Given the description of an element on the screen output the (x, y) to click on. 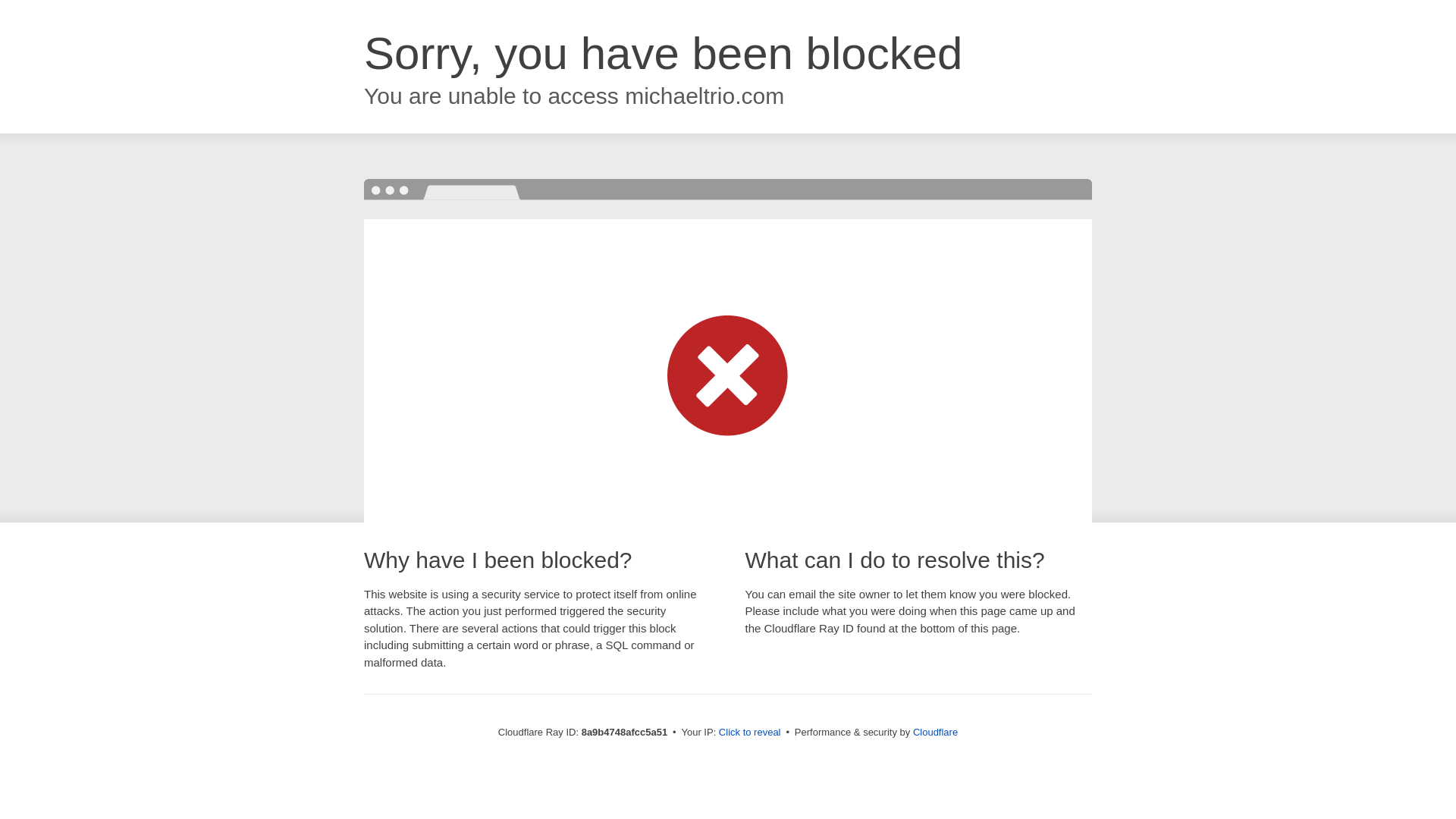
Cloudflare (935, 731)
Click to reveal (749, 732)
